Given the description of an element on the screen output the (x, y) to click on. 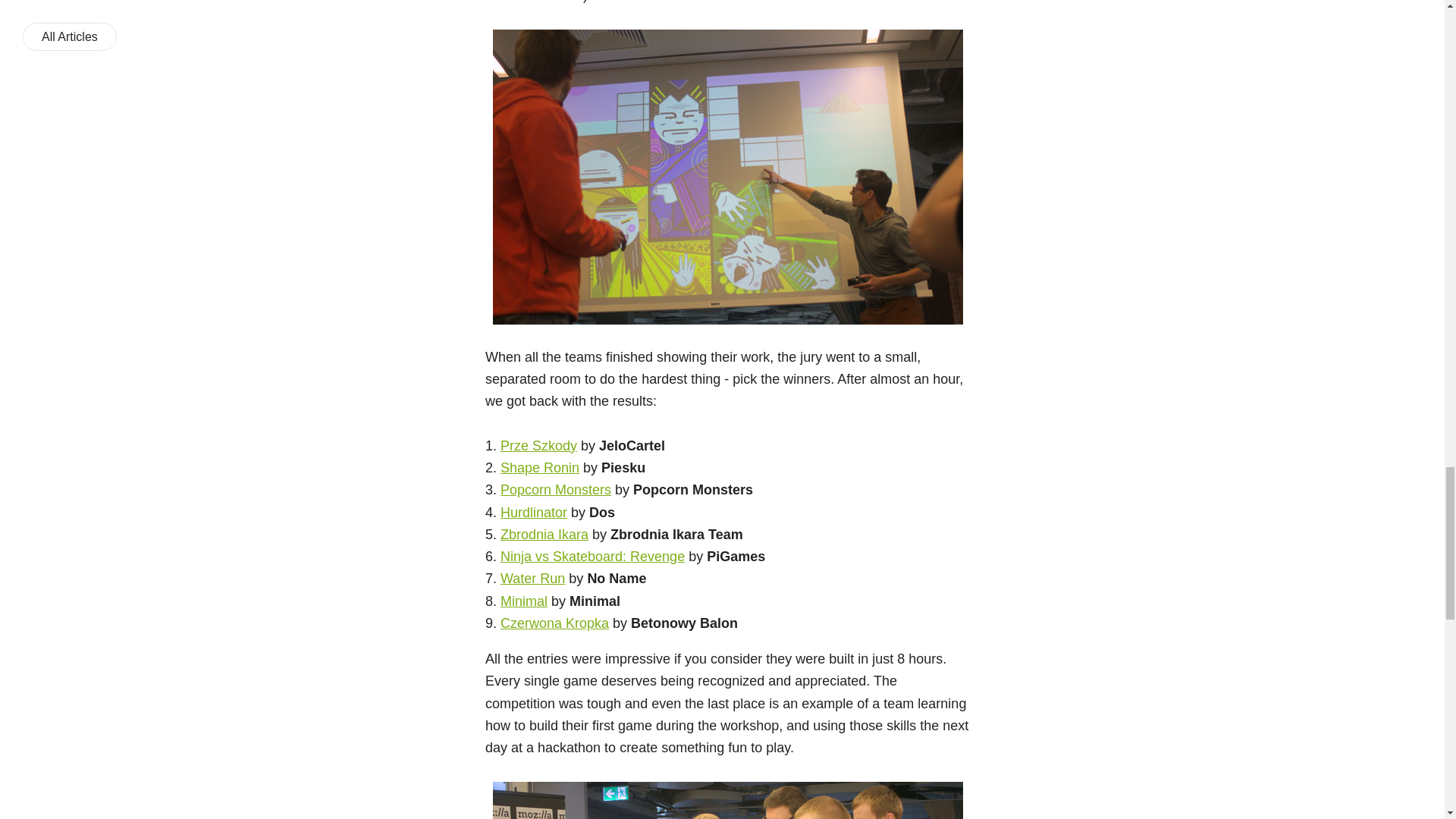
Zbrodnia Ikara (544, 534)
Popcorn Monsters (555, 489)
Water Run (532, 578)
Minimal (523, 600)
Hurdlinator (533, 512)
Czerwona Kropka (554, 622)
Ninja vs Skateboard: Revenge (592, 556)
Shape Ronin (539, 467)
Prze Szkody (538, 445)
